Given the description of an element on the screen output the (x, y) to click on. 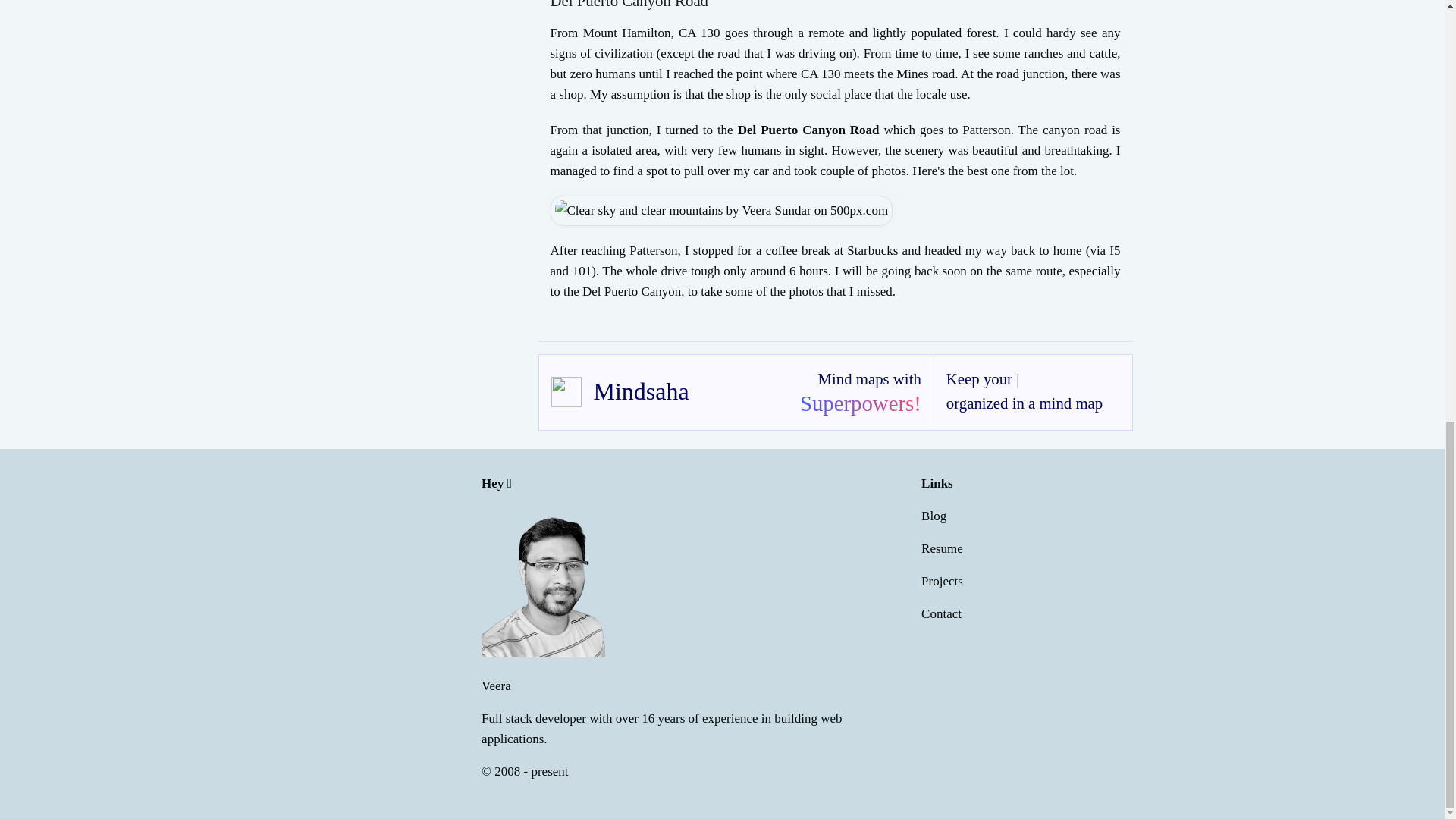
Projects (941, 581)
Resume (941, 548)
Contact (940, 613)
Blog (933, 515)
Veerasundar (557, 581)
